Given the description of an element on the screen output the (x, y) to click on. 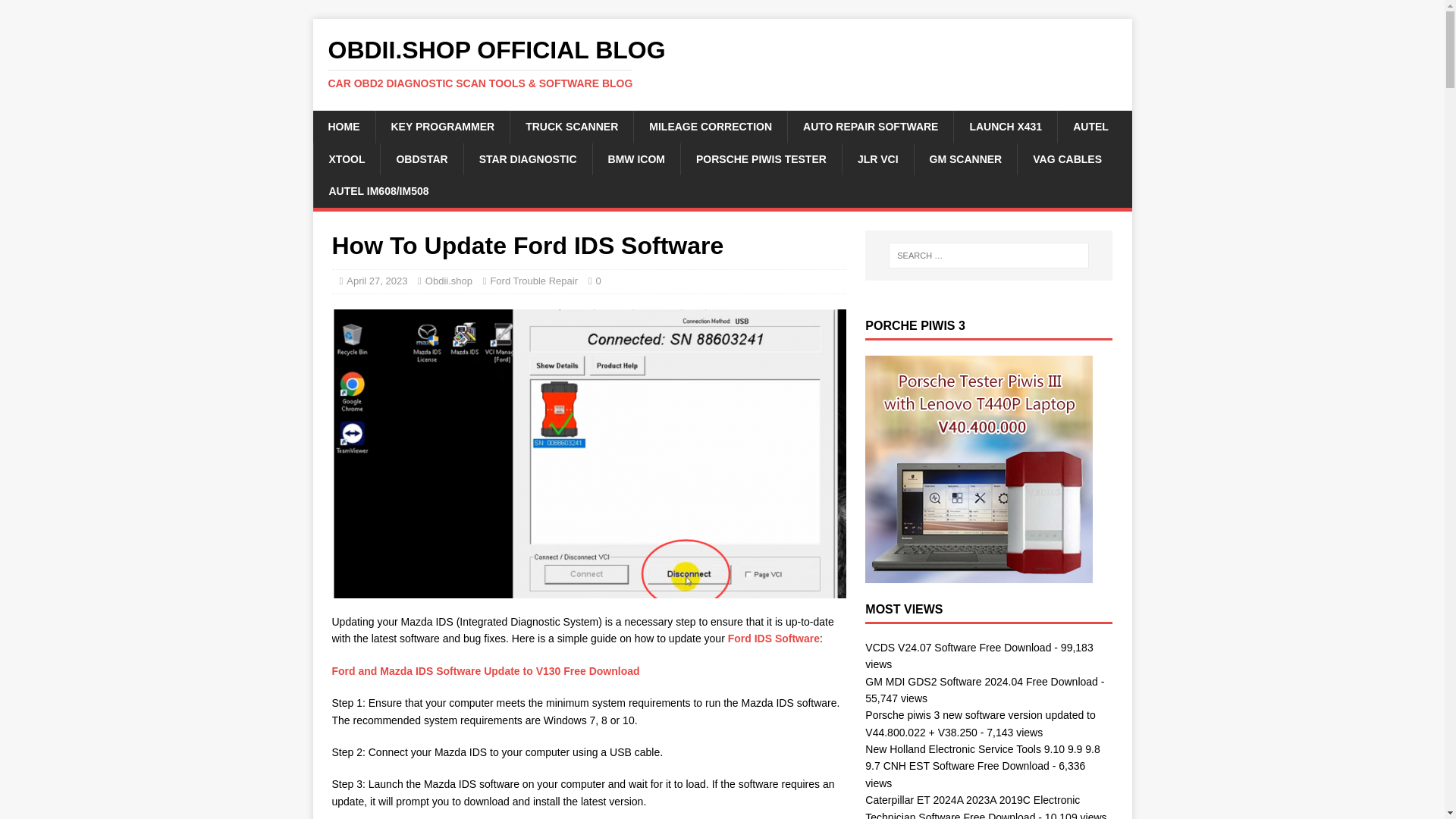
KEY PROGRAMMER (441, 126)
BMW ICOM (635, 159)
April 27, 2023 (376, 280)
MILEAGE CORRECTION (710, 126)
OBDSTAR (421, 159)
HOME (343, 126)
Obdii.shop (448, 280)
GM MDI GDS2 Software 2024.04 Free Download (980, 681)
Ford Trouble Repair (533, 280)
PORSCHE PIWIS TESTER (760, 159)
0 (597, 280)
VAG CABLES (1066, 159)
AUTO REPAIR SOFTWARE (870, 126)
Ford and Mazda IDS Software Update to V130 Free Download (485, 671)
GM SCANNER (965, 159)
